Given the description of an element on the screen output the (x, y) to click on. 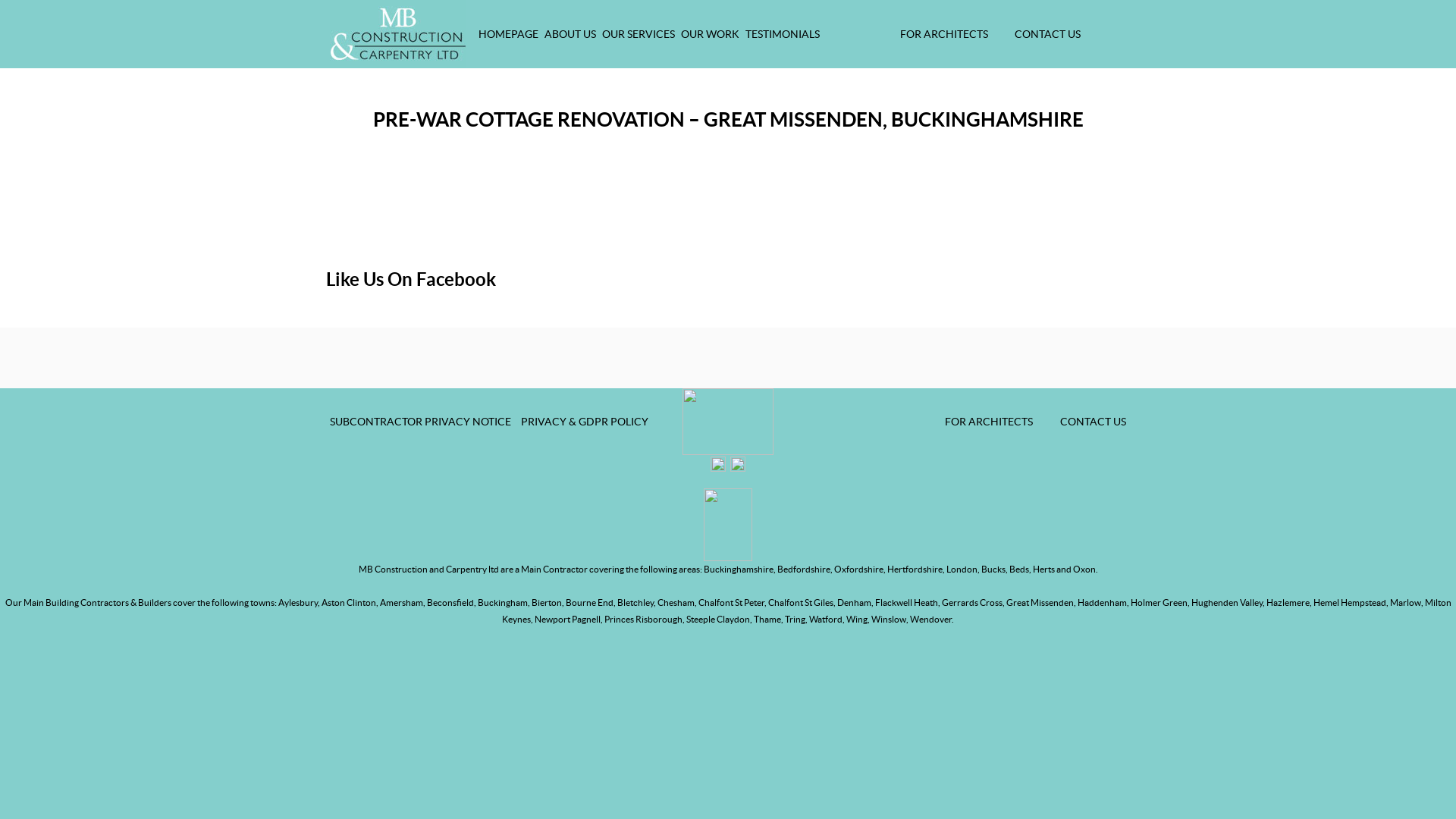
PRIVACY & GDPR POLICY Element type: text (584, 421)
CONTACT US Element type: text (1084, 421)
OUR SERVICES Element type: text (638, 34)
ABOUT US Element type: text (570, 34)
OUR WORK Element type: text (709, 34)
TESTIMONIALS Element type: text (782, 34)
CONTACT US Element type: text (1038, 34)
HOMEPAGE Element type: text (508, 34)
SUBCONTRACTOR PRIVACY NOTICE Element type: text (420, 421)
FOR ARCHITECTS Element type: text (988, 421)
FOR ARCHITECTS Element type: text (944, 34)
